Given the description of an element on the screen output the (x, y) to click on. 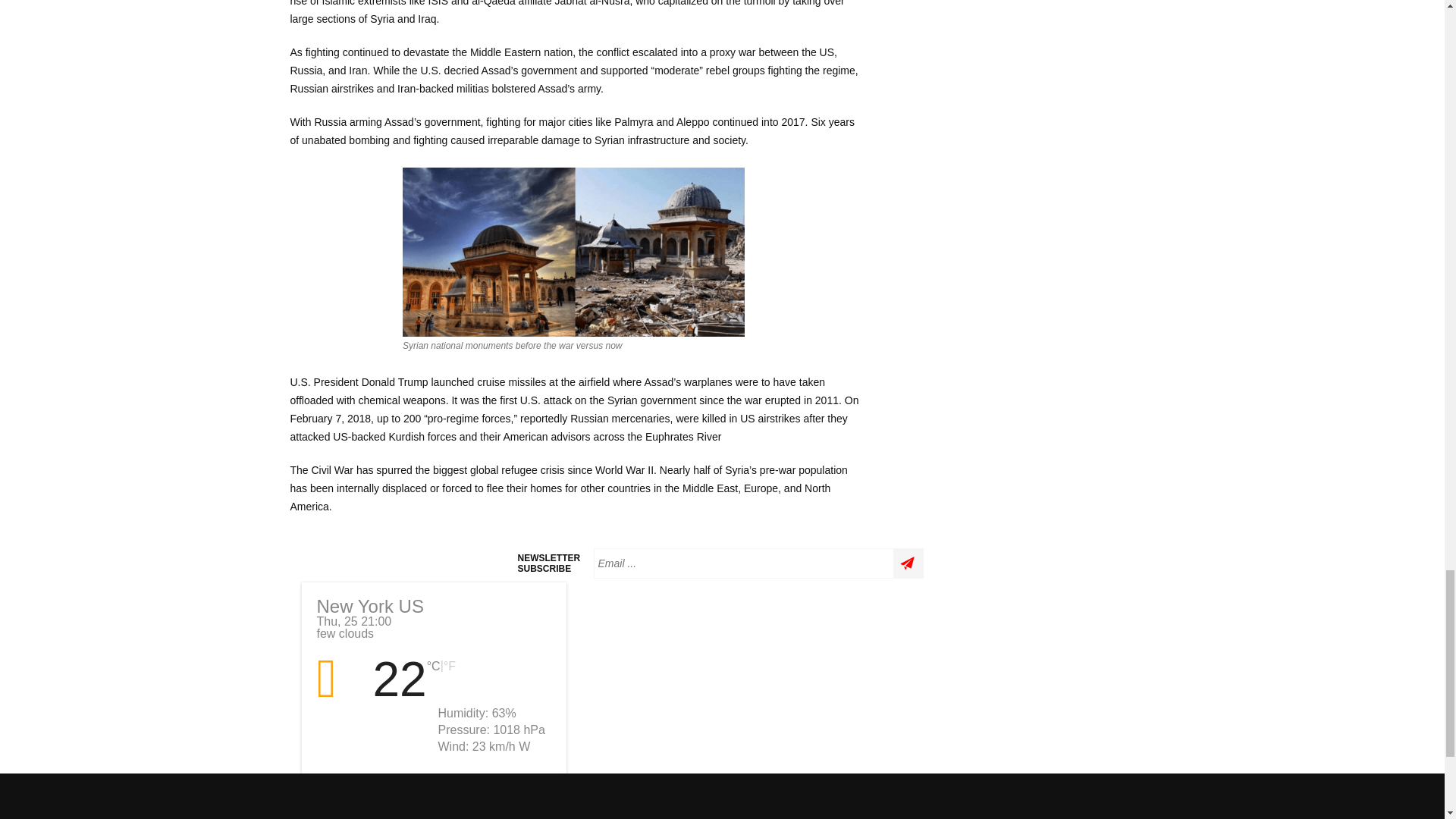
few clouds (341, 679)
